Given the description of an element on the screen output the (x, y) to click on. 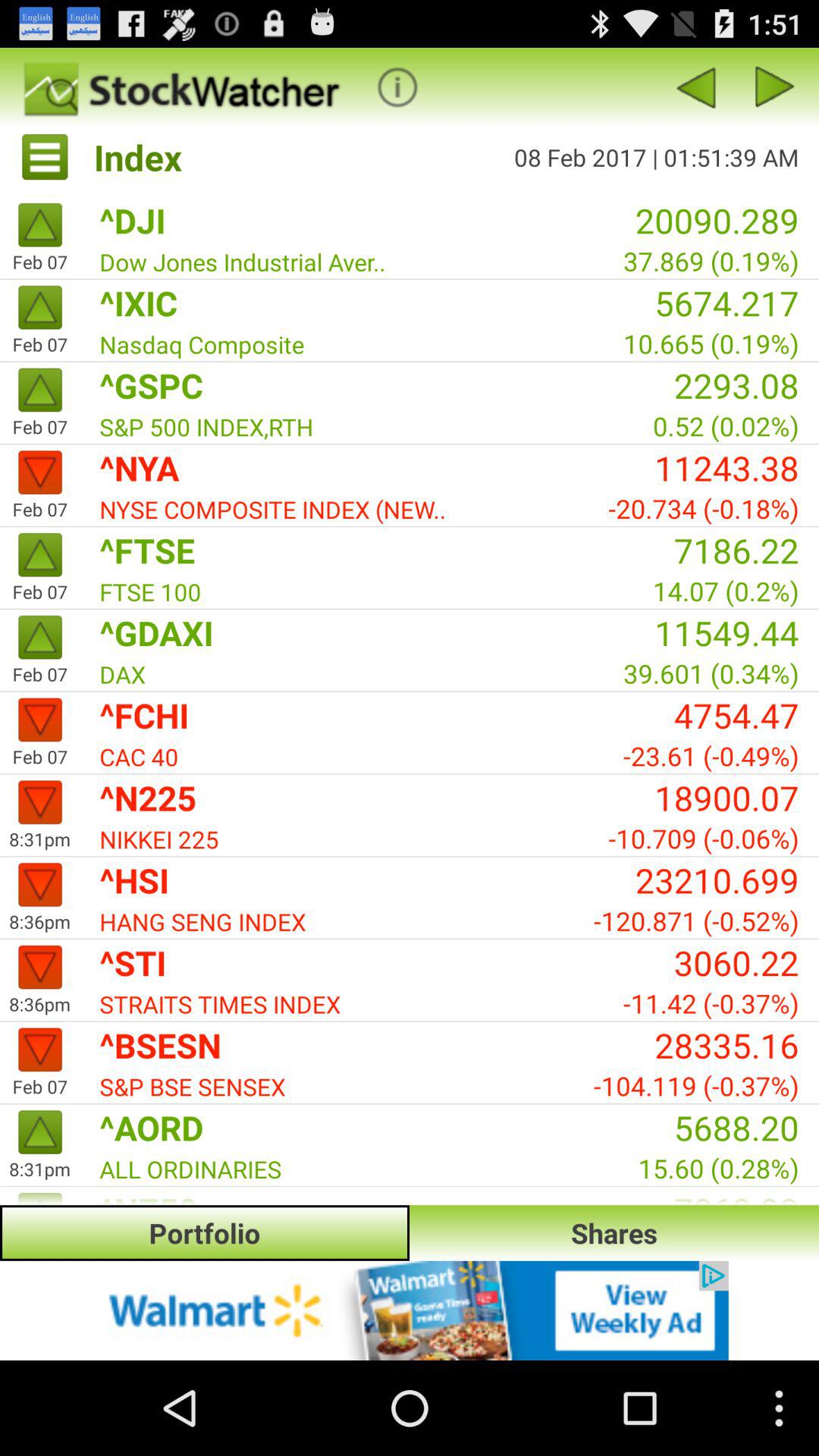
play button (397, 87)
